Given the description of an element on the screen output the (x, y) to click on. 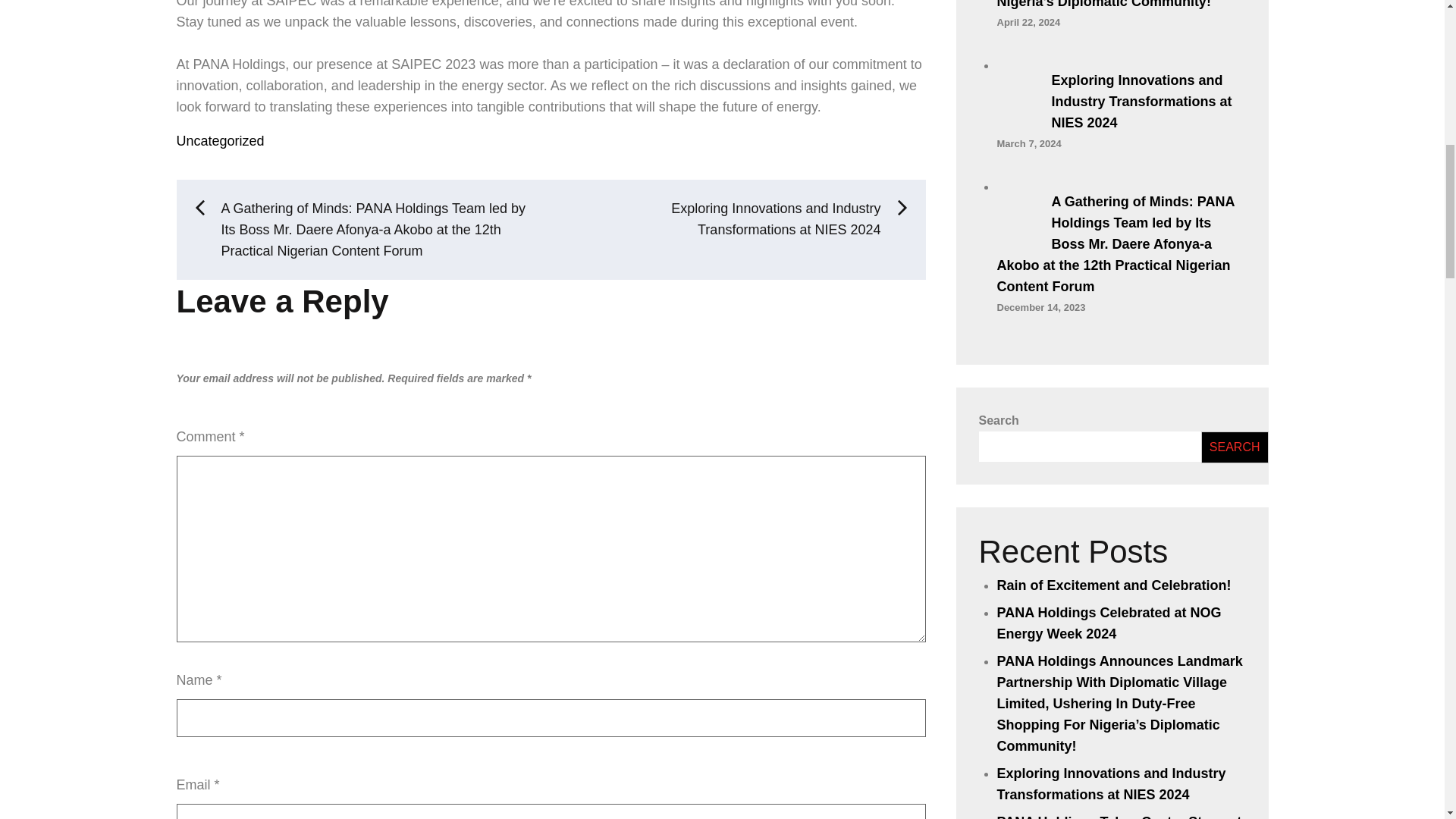
Rain of Excitement and Celebration! (1112, 585)
SEARCH (1234, 447)
Uncategorized (219, 140)
PANA Holdings Celebrated at NOG Energy Week 2024 (1108, 623)
